Given the description of an element on the screen output the (x, y) to click on. 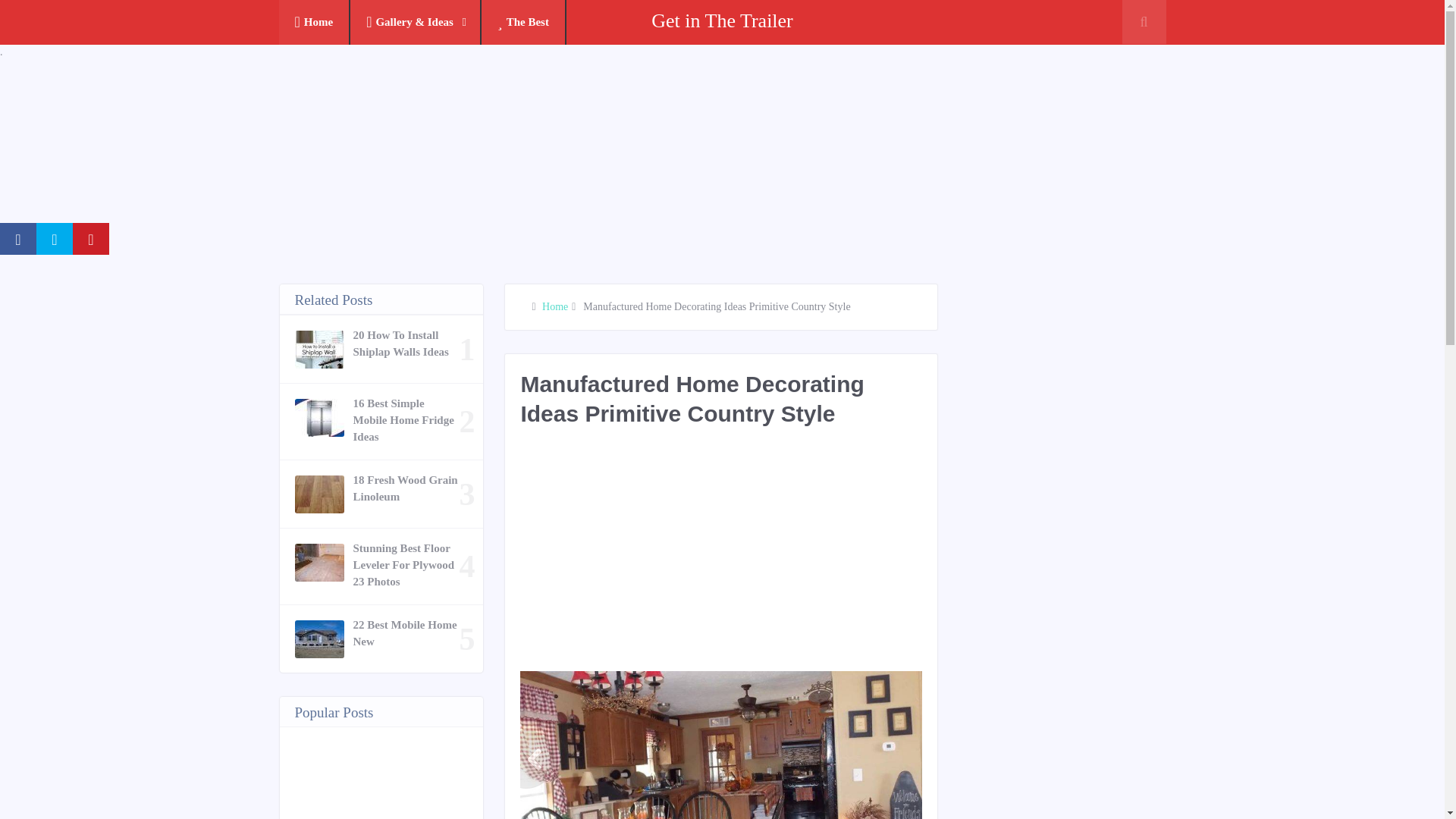
20 How To Install Shiplap Walls Ideas (406, 343)
Advertisement (795, 557)
16 Best Simple Mobile Home Fridge Ideas (406, 419)
The Best (523, 22)
Home (554, 306)
Stunning Best Floor Leveler For Plywood 23 Photos (406, 564)
18 Fresh Wood Grain Linoleum (406, 488)
Home (314, 22)
Get in The Trailer (721, 20)
